Given the description of an element on the screen output the (x, y) to click on. 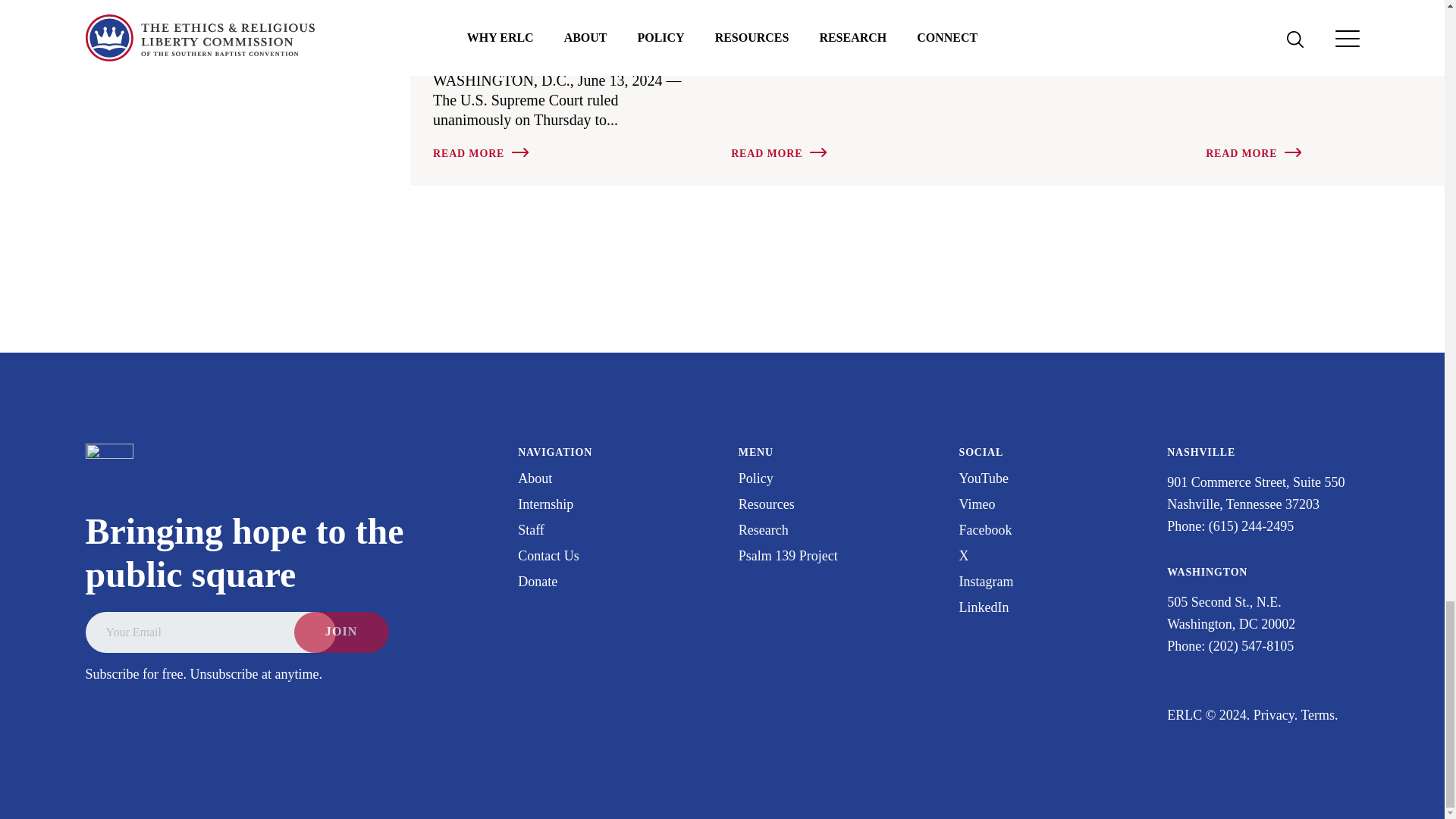
READ MORE (778, 153)
READ MORE (479, 153)
